Given the description of an element on the screen output the (x, y) to click on. 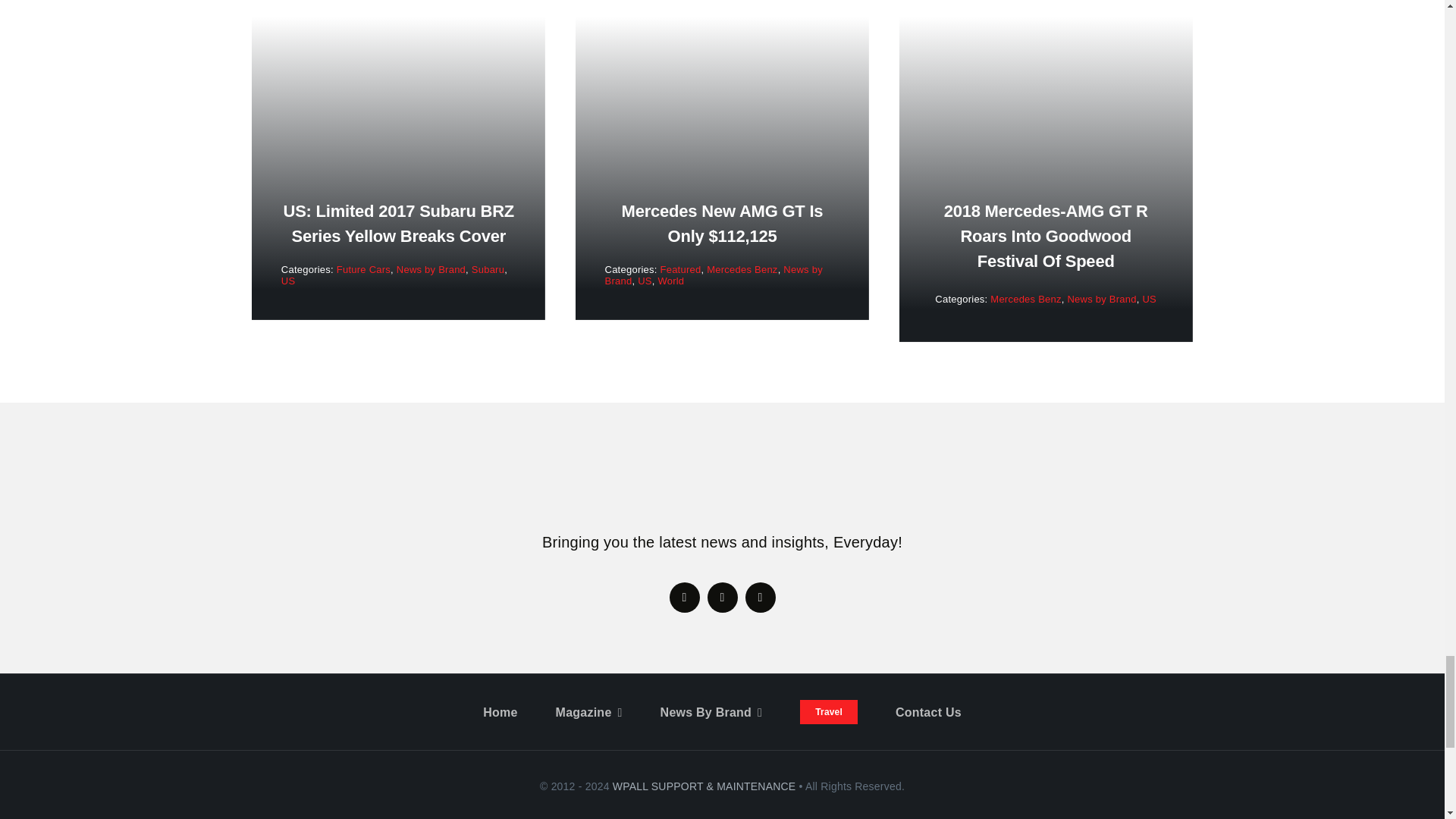
Instagram (759, 597)
X (721, 597)
Facebook (683, 597)
